Given the description of an element on the screen output the (x, y) to click on. 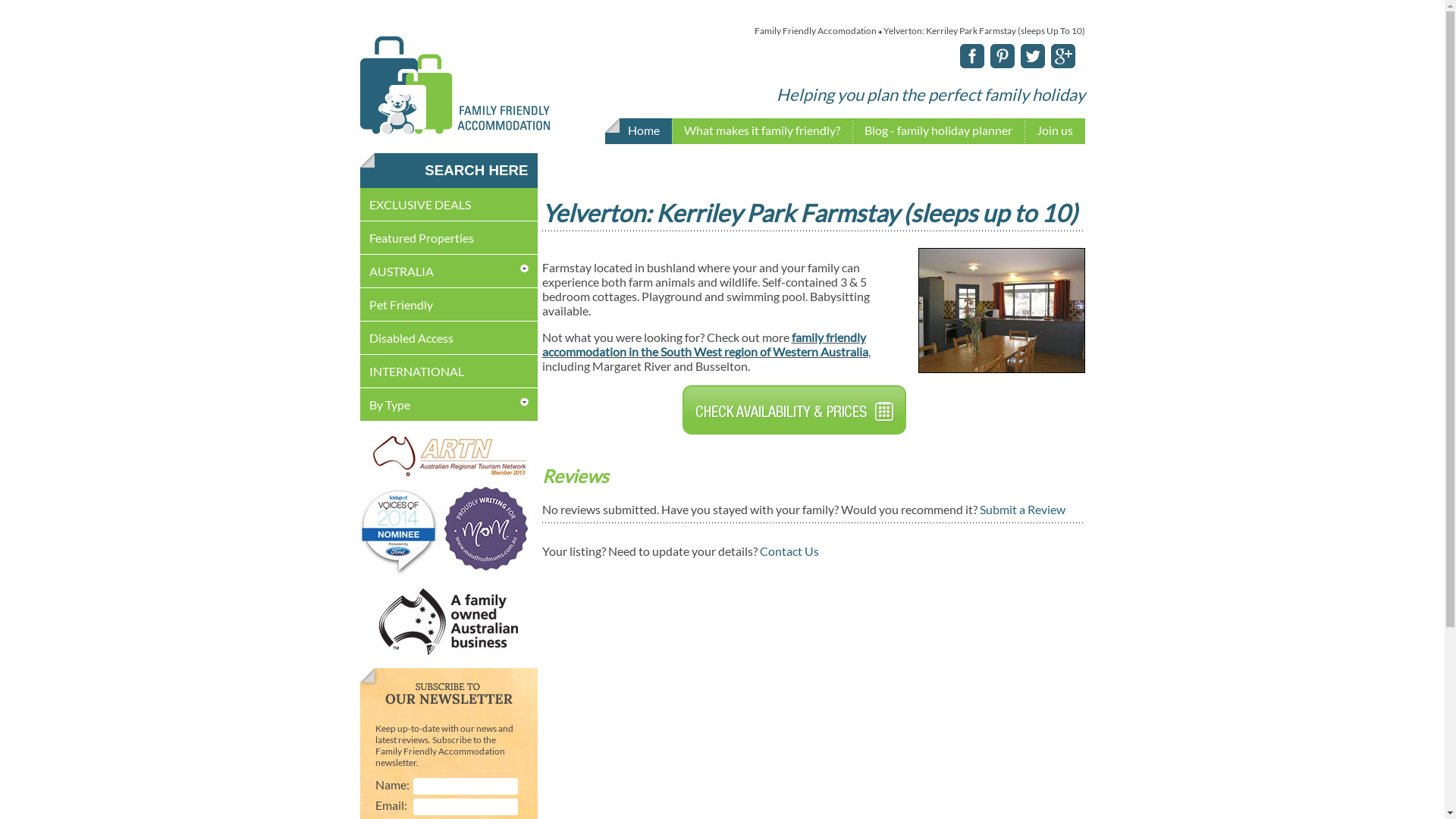
Follow us on Twitter Element type: hover (1030, 63)
What makes it family friendly? Element type: text (762, 132)
Featured Properties Element type: text (420, 237)
Home Element type: text (643, 132)
Contact Us Element type: text (789, 550)
EXCLUSIVE DEALS Element type: text (419, 204)
Blog - family holiday planner Element type: text (938, 132)
INTERNATIONAL Element type: text (415, 371)
Follow us on Google Plus Element type: hover (1060, 63)
Pet Friendly Element type: text (400, 304)
Join us Element type: text (1053, 132)
Submit a Review Element type: text (1022, 509)
Follow us on Facebook Element type: hover (969, 63)
Disabled Access Element type: text (410, 337)
Family Friendly Accomodation Element type: hover (454, 130)
Yelverton: Kerriley Park Farmstay (sleeps up to 10) Element type: hover (1001, 367)
Follow us on Pinterest Element type: hover (999, 63)
AUSTRALIA Element type: text (400, 270)
By Type Element type: text (388, 404)
Family Friendly Accomodation Element type: text (814, 30)
